Given the description of an element on the screen output the (x, y) to click on. 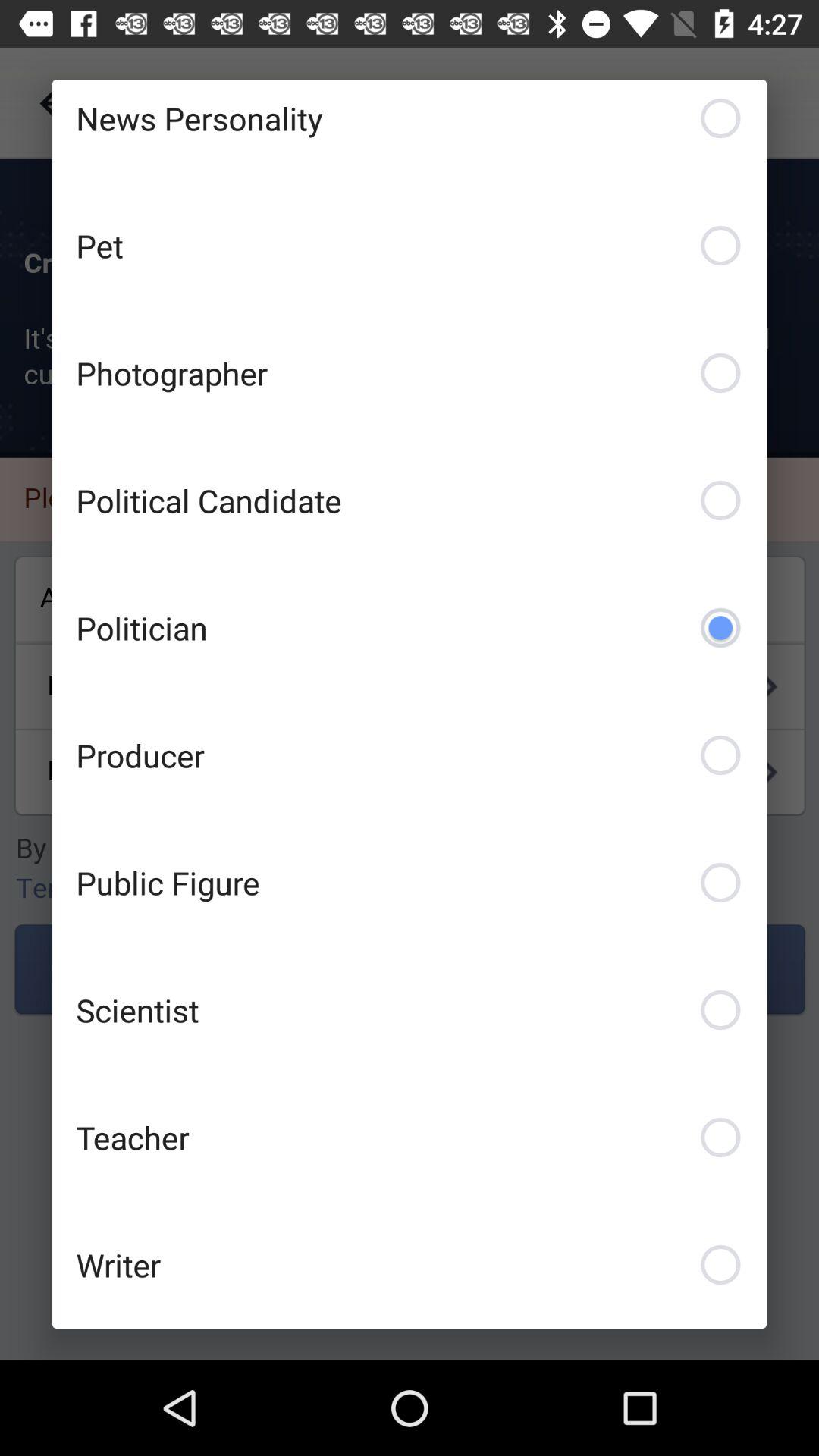
launch public figure checkbox (409, 882)
